Given the description of an element on the screen output the (x, y) to click on. 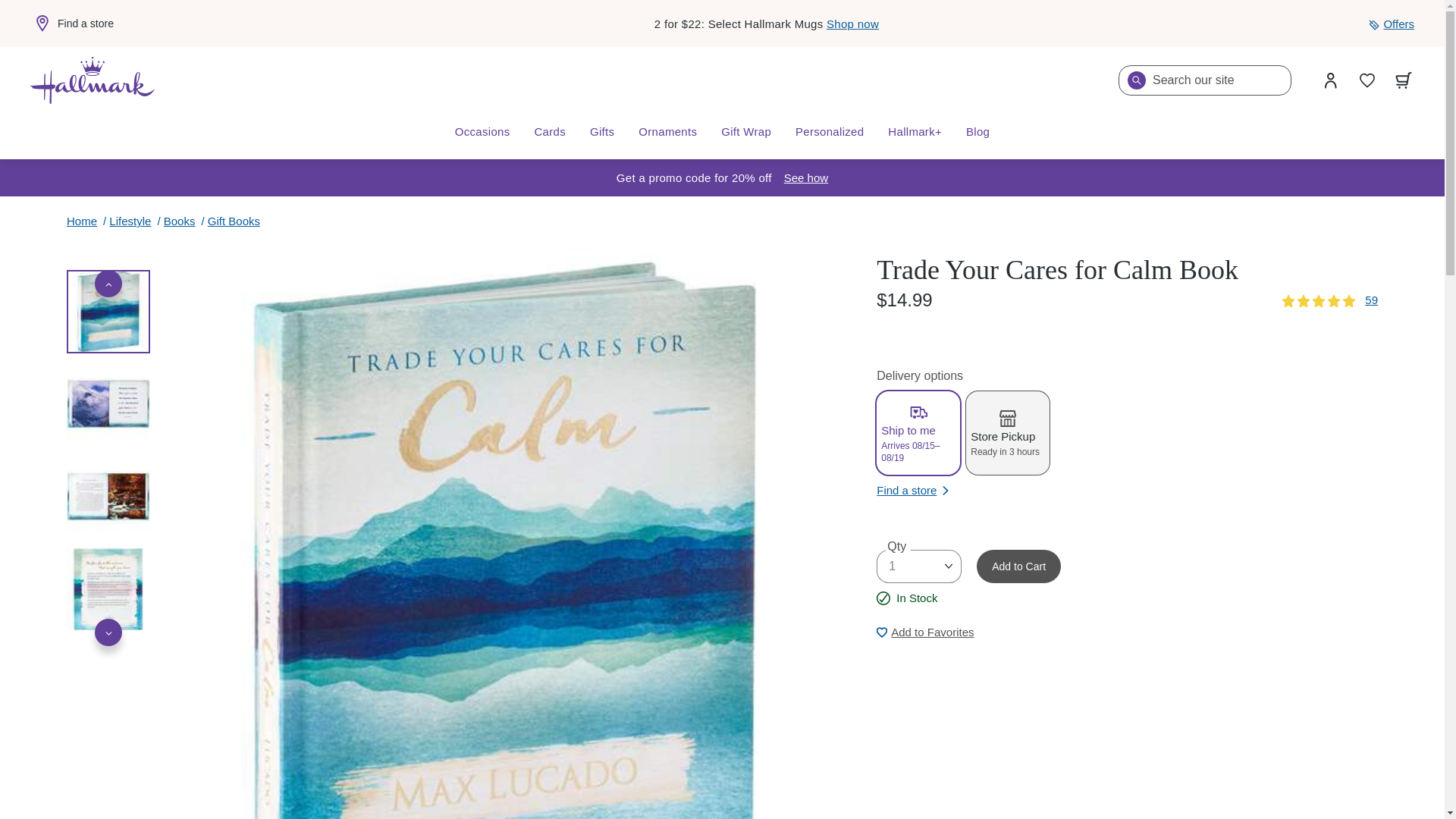
Search (1135, 80)
Wish List (1367, 80)
Offers (1390, 23)
Previous item (108, 283)
Next item (108, 632)
View your cart (1404, 80)
Home page (92, 80)
Shop now (853, 22)
Open shipping dates modal (806, 177)
Find a store (71, 23)
